Given the description of an element on the screen output the (x, y) to click on. 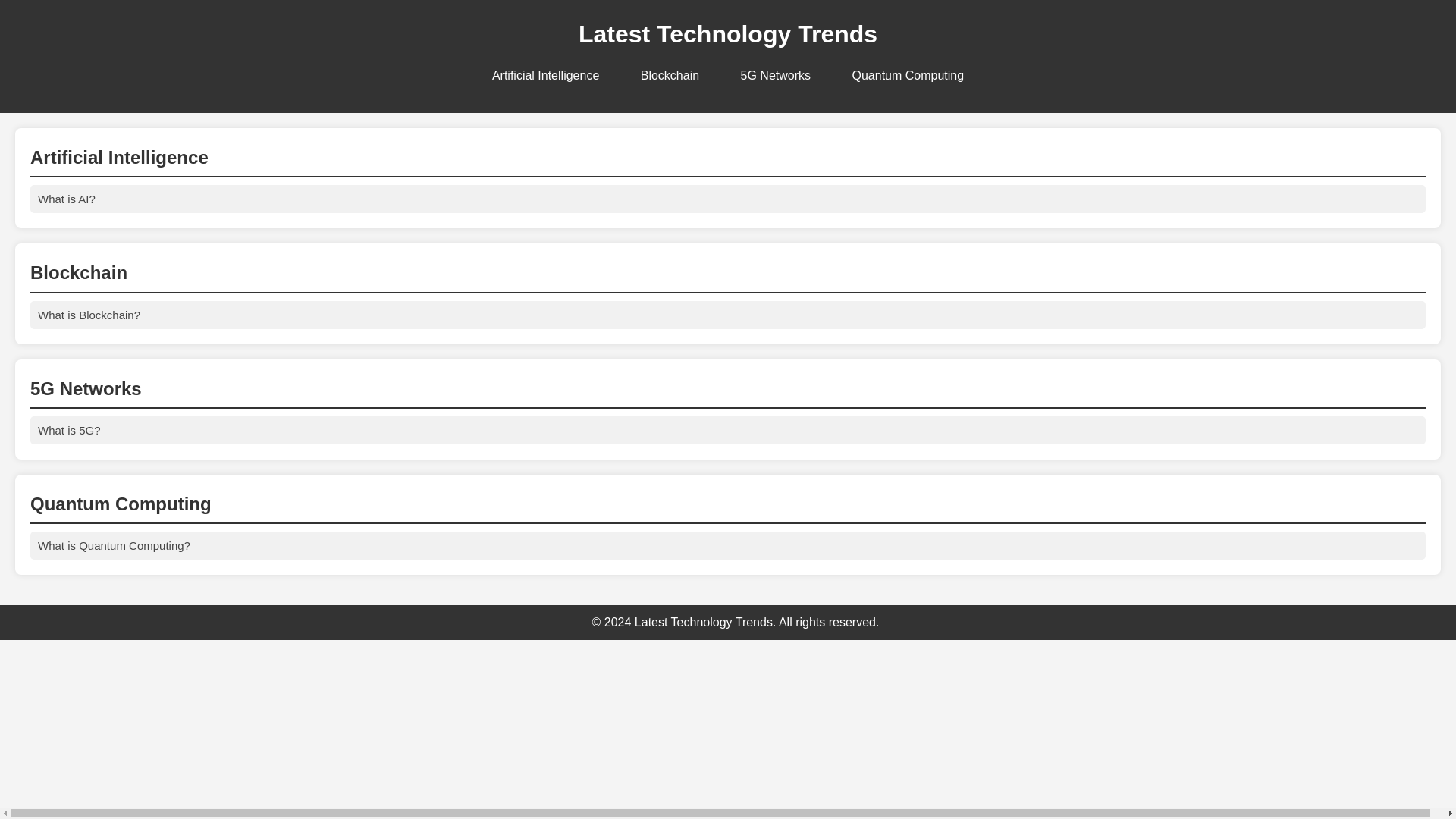
What is Quantum Computing? (727, 545)
Quantum Computing (907, 75)
What is AI? (727, 198)
What is Blockchain? (727, 315)
Blockchain (669, 75)
Artificial Intelligence (545, 75)
5G Networks (775, 75)
What is 5G? (727, 430)
